Given the description of an element on the screen output the (x, y) to click on. 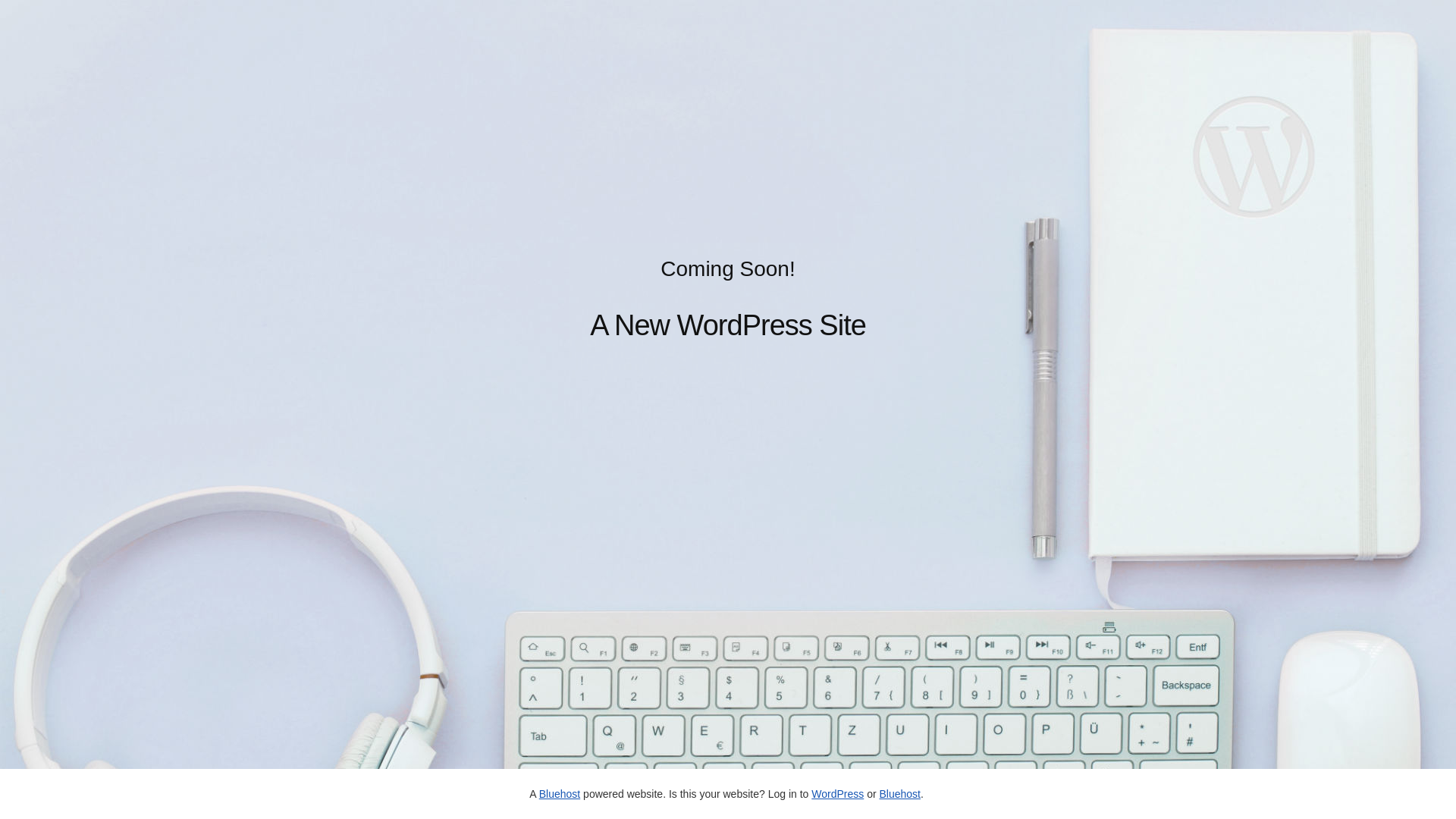
Bluehost Element type: text (898, 793)
Bluehost Element type: text (559, 793)
WordPress Element type: text (837, 793)
